Given the description of an element on the screen output the (x, y) to click on. 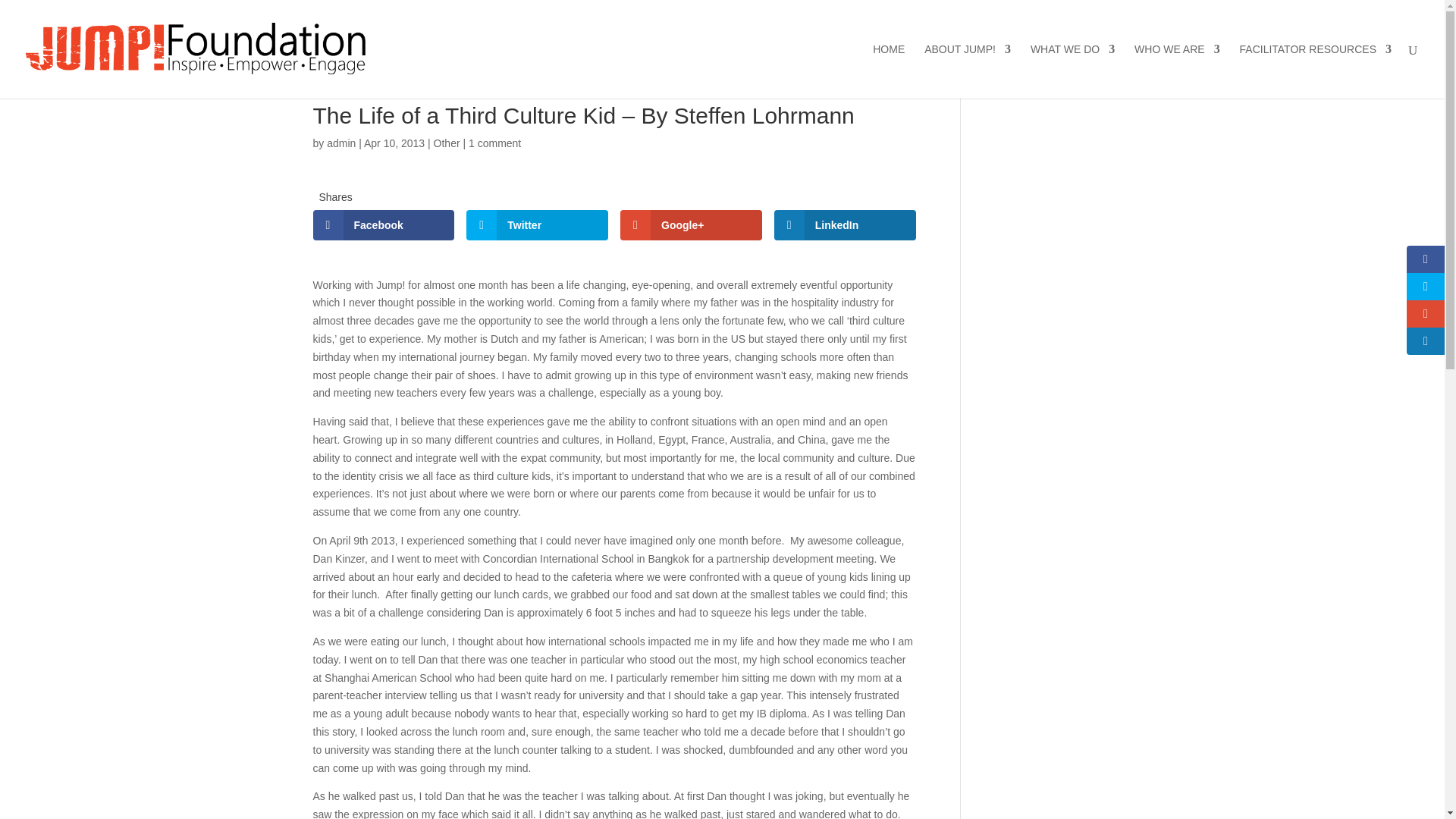
WHAT WE DO (1072, 71)
LinkedIn (844, 224)
Other (446, 143)
FACILITATOR RESOURCES (1315, 71)
1 comment (494, 143)
ABOUT JUMP! (967, 71)
admin (340, 143)
Posts by admin (340, 143)
Twitter (536, 224)
WHO WE ARE (1177, 71)
